Given the description of an element on the screen output the (x, y) to click on. 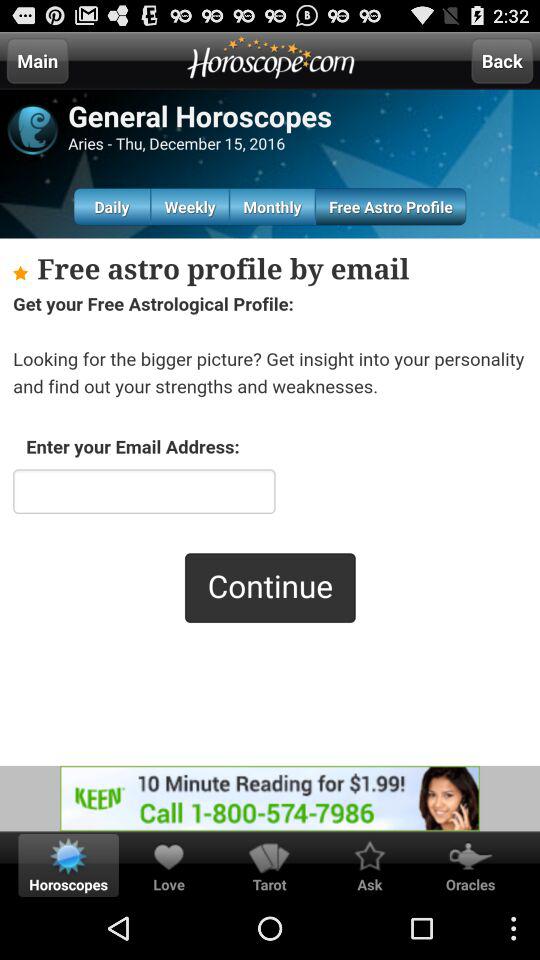
advertisement (270, 798)
